Given the description of an element on the screen output the (x, y) to click on. 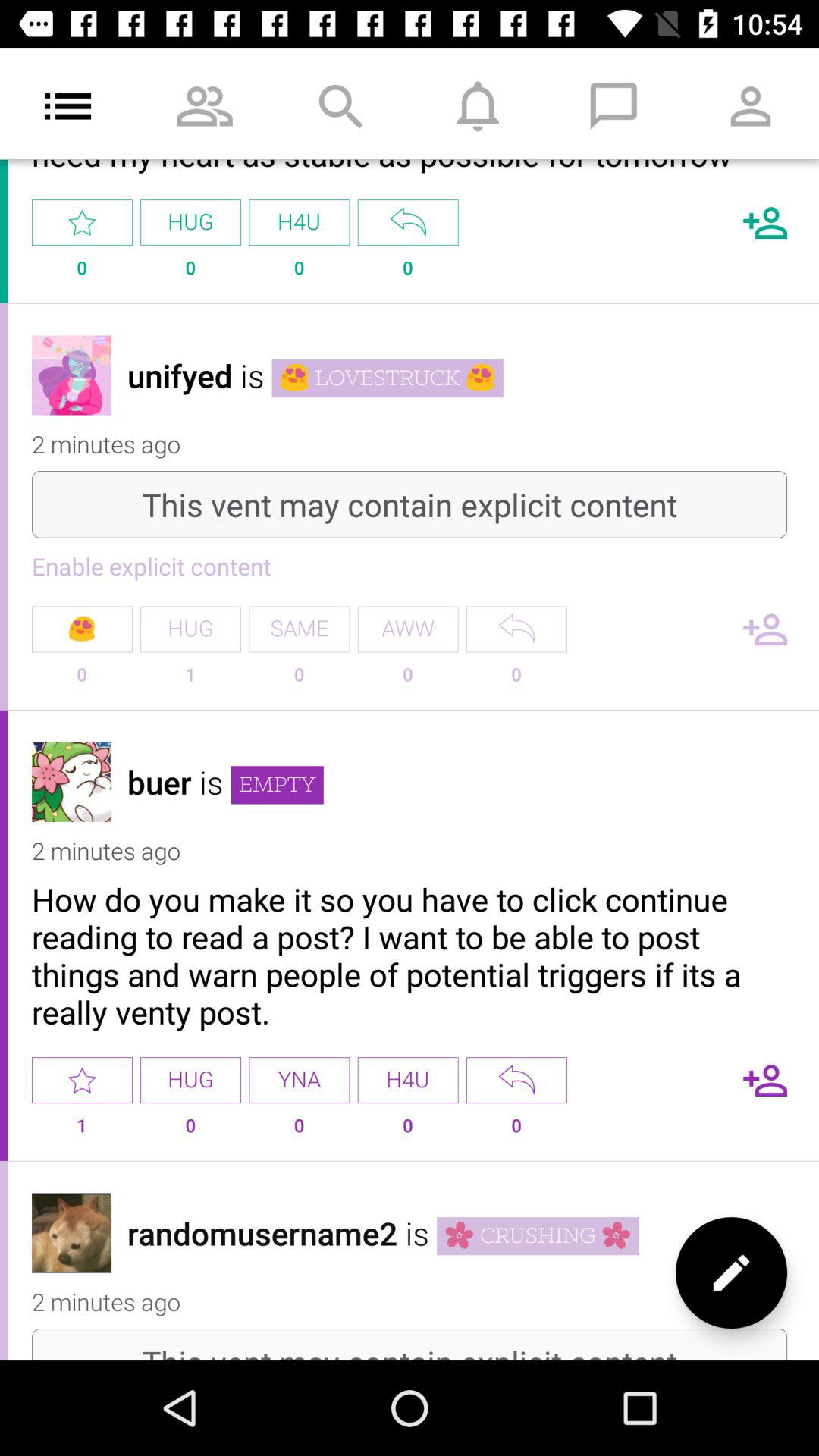
star post (81, 1080)
